Given the description of an element on the screen output the (x, y) to click on. 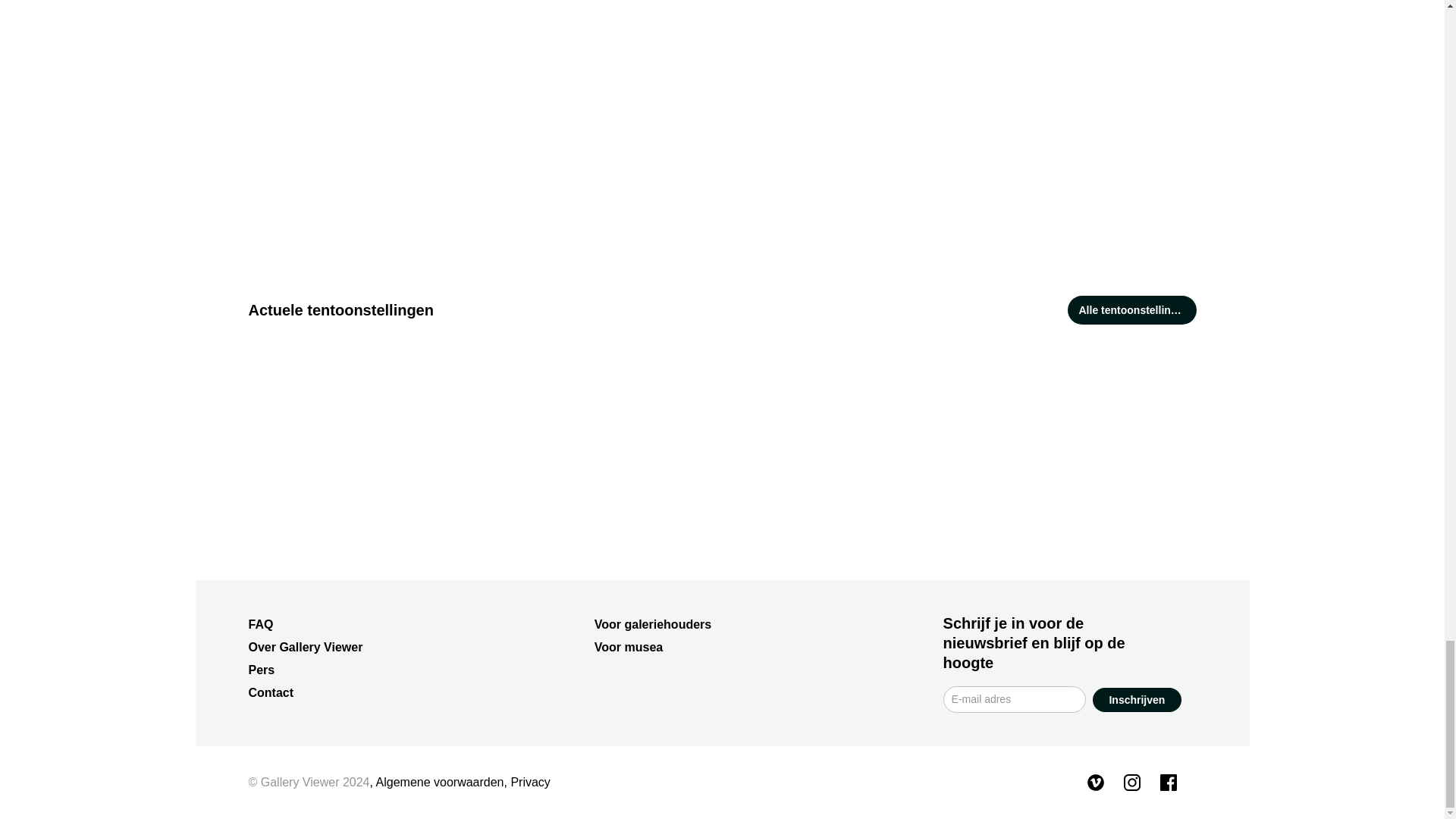
Contact (271, 692)
Voor galeriehouders (652, 624)
Voor musea (628, 646)
Pers (261, 669)
Inschrijven (1136, 699)
Alle tentoonstellingen (1131, 309)
, Privacy (526, 781)
, Algemene voorwaarden (436, 781)
FAQ (260, 624)
Over Gallery Viewer (305, 646)
